Given the description of an element on the screen output the (x, y) to click on. 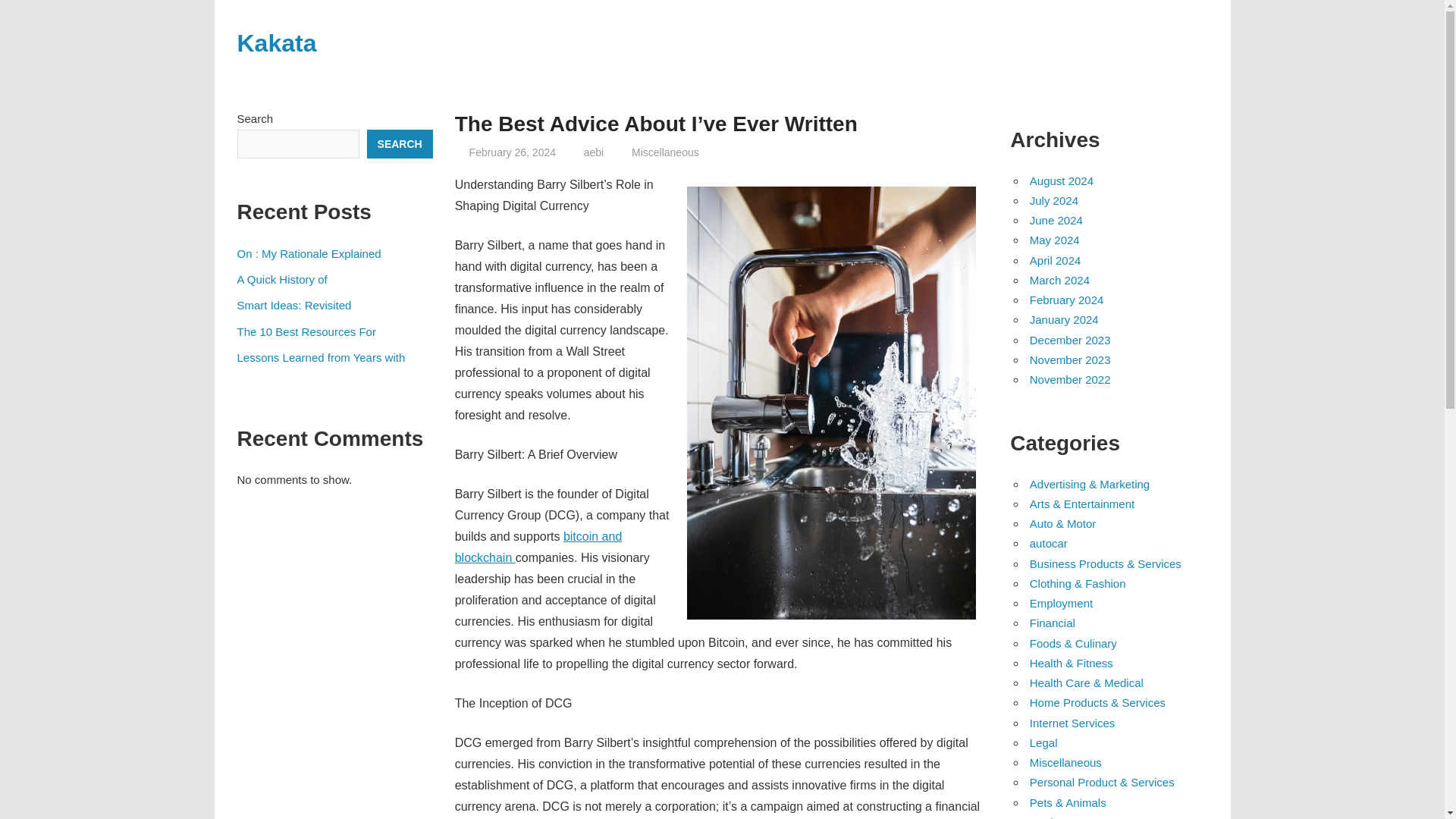
June 2024 (1056, 219)
February 2024 (1066, 299)
March 2024 (1059, 279)
May 2024 (1054, 239)
Miscellaneous (1065, 762)
aebi (593, 152)
View all posts by aebi (593, 152)
Miscellaneous (664, 152)
July 2024 (1053, 200)
4:43 am (512, 152)
